Given the description of an element on the screen output the (x, y) to click on. 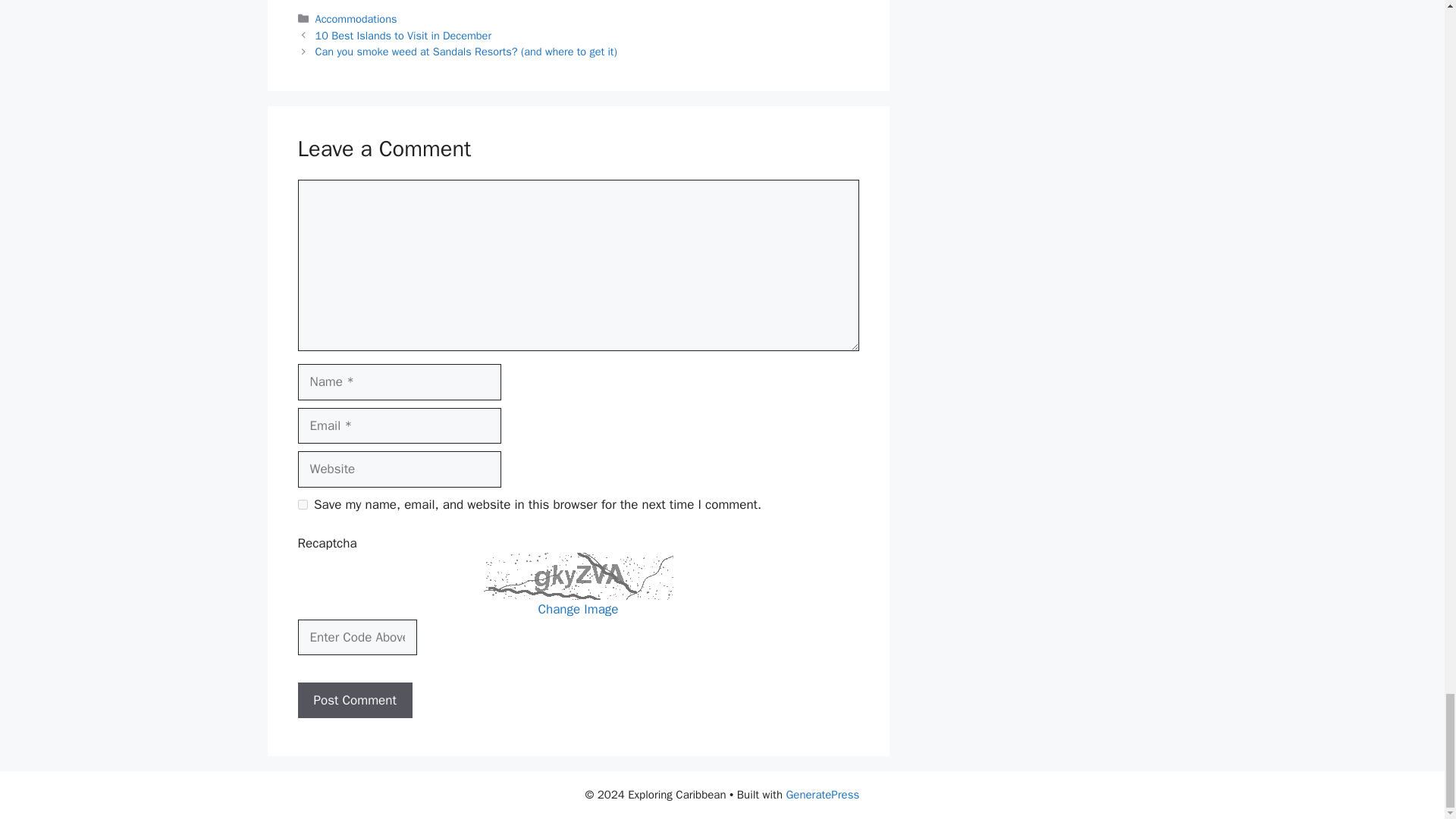
10 Best Islands to Visit in December (403, 35)
Post Comment (354, 700)
Accommodations (356, 18)
Post Comment (354, 700)
yes (302, 504)
Change Image (578, 609)
